Given the description of an element on the screen output the (x, y) to click on. 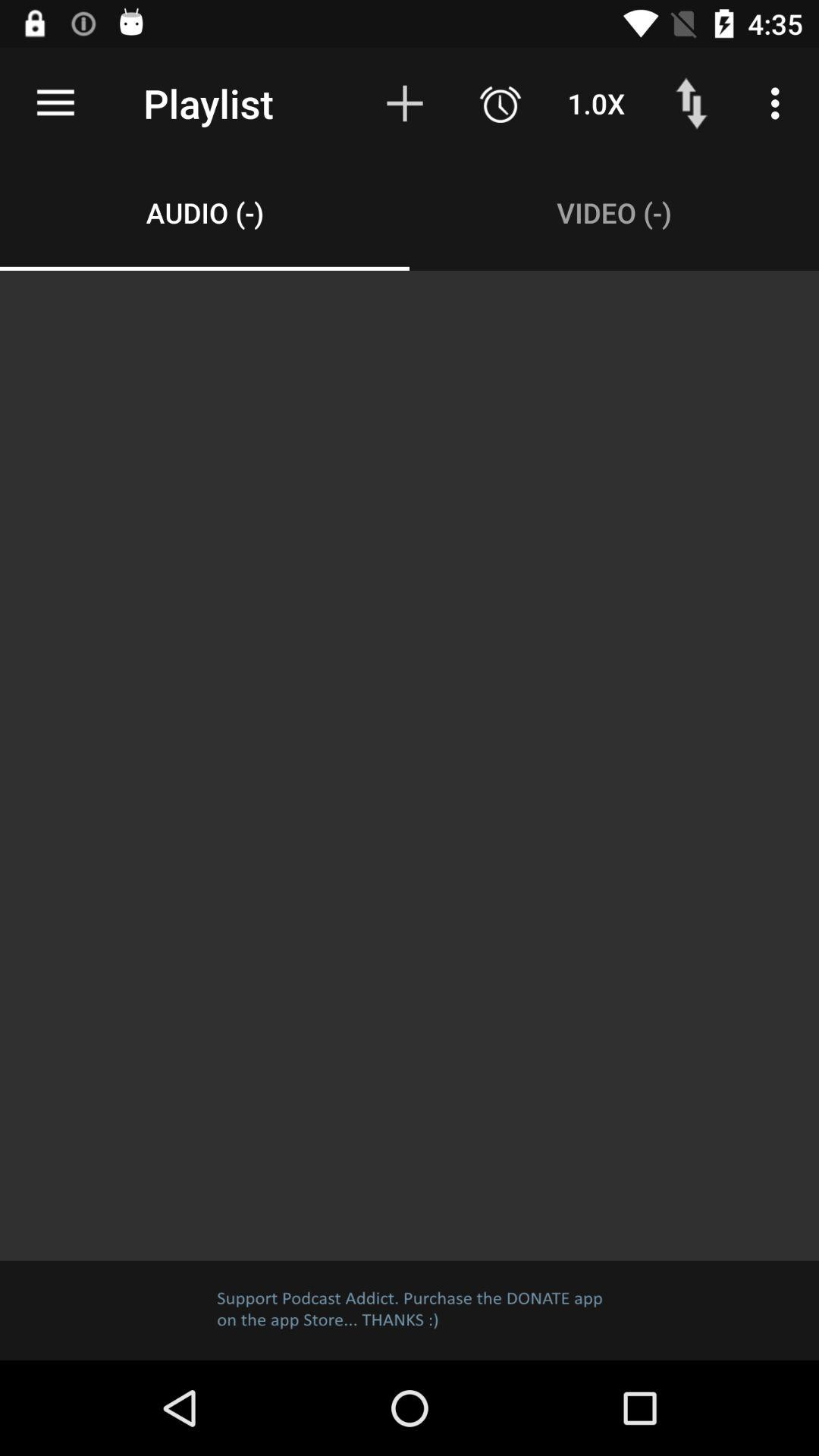
turn on the icon to the right of 1.0x item (691, 103)
